Given the description of an element on the screen output the (x, y) to click on. 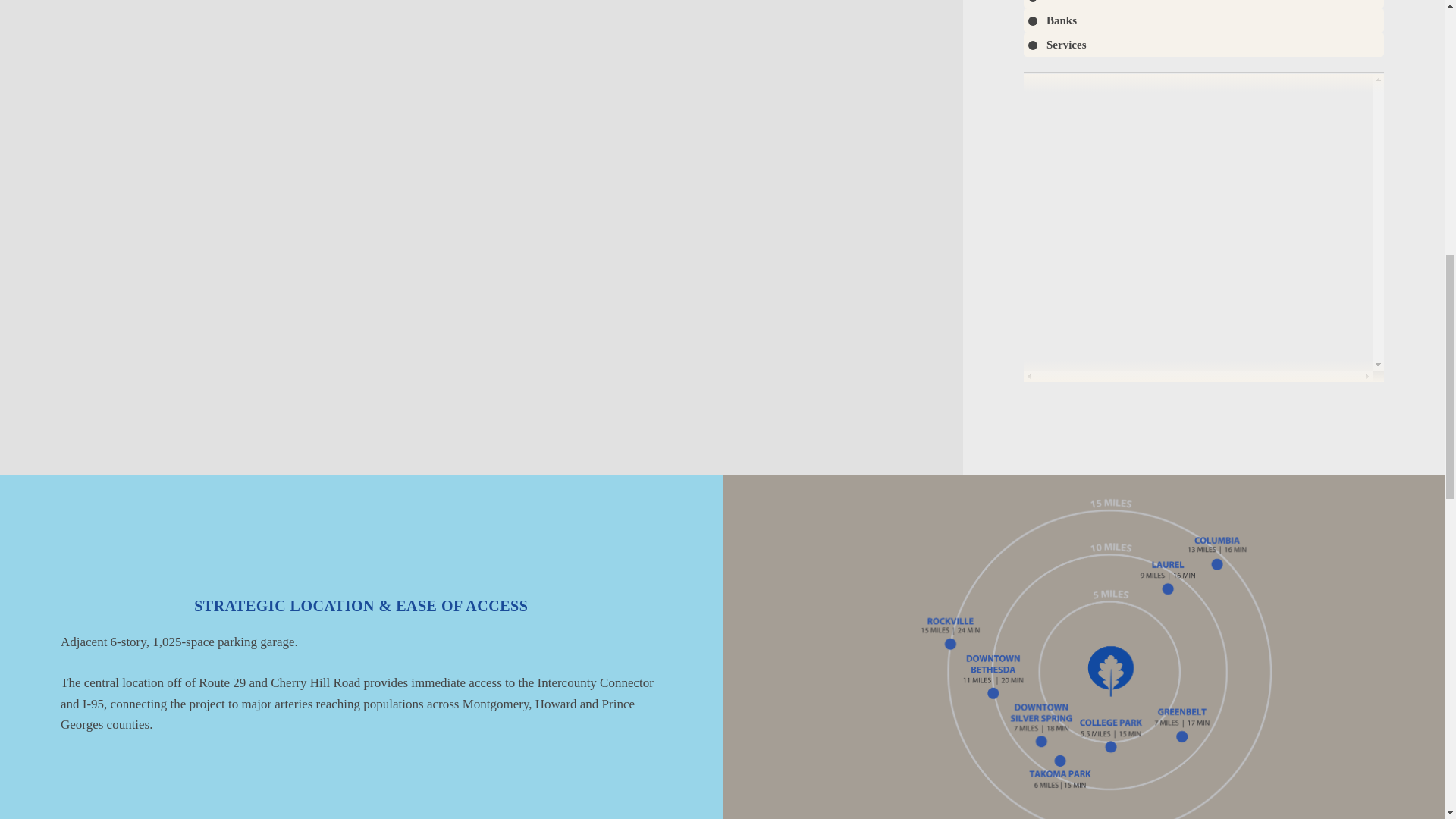
Banks (1203, 20)
Hotels (1203, 4)
Services (1203, 44)
